Given the description of an element on the screen output the (x, y) to click on. 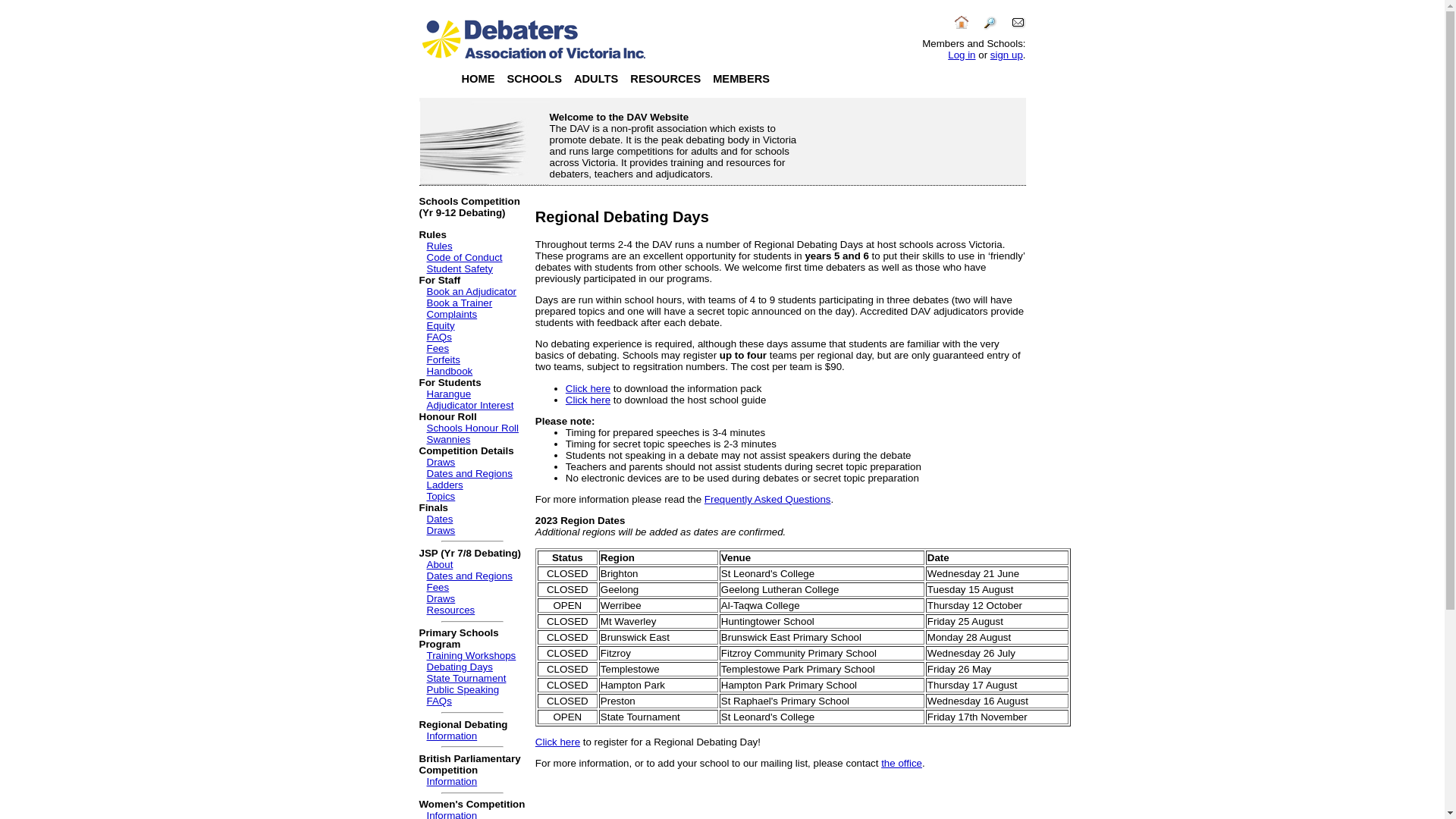
Complaints Element type: text (451, 314)
Dates Element type: text (439, 518)
Public Speaking Element type: text (462, 689)
Click here Element type: text (557, 741)
Topics Element type: text (440, 496)
Handbook Element type: text (449, 370)
Debating Days Element type: text (459, 666)
Swannies Element type: text (448, 439)
Draws Element type: text (440, 530)
Training Workshops Element type: text (470, 655)
FAQs Element type: text (438, 336)
Book a Trainer Element type: text (459, 302)
State Tournament Element type: text (465, 678)
FAQs Element type: text (438, 700)
Frequently Asked Questions Element type: text (767, 499)
Equity Element type: text (440, 325)
Harangue Element type: text (448, 393)
sign up Element type: text (1006, 54)
Fees Element type: text (437, 348)
Schools Honour Roll Element type: text (472, 427)
Resources Element type: text (450, 609)
Click here Element type: text (587, 399)
Home Element type: hover (961, 26)
Ladders Element type: text (444, 484)
HOME Element type: text (477, 78)
Information Element type: text (451, 735)
Draws Element type: text (440, 461)
Information Element type: text (451, 781)
the office Element type: text (901, 762)
Code of Conduct Element type: text (464, 257)
RESOURCES Element type: text (665, 78)
Dates and Regions Element type: text (468, 575)
Rules Element type: text (438, 245)
Dates and Regions Element type: text (468, 473)
MEMBERS Element type: text (740, 78)
Contact Element type: hover (1017, 26)
Book an Adjudicator Element type: text (471, 291)
Search Element type: hover (989, 26)
Student Safety Element type: text (459, 268)
Adjudicator Interest Element type: text (469, 405)
About Element type: text (439, 564)
Fees Element type: text (437, 587)
SCHOOLS Element type: text (533, 78)
Forfeits Element type: text (442, 359)
Click here Element type: text (587, 387)
Draws Element type: text (440, 598)
Log in Element type: text (961, 54)
ADULTS Element type: text (596, 78)
